Given the description of an element on the screen output the (x, y) to click on. 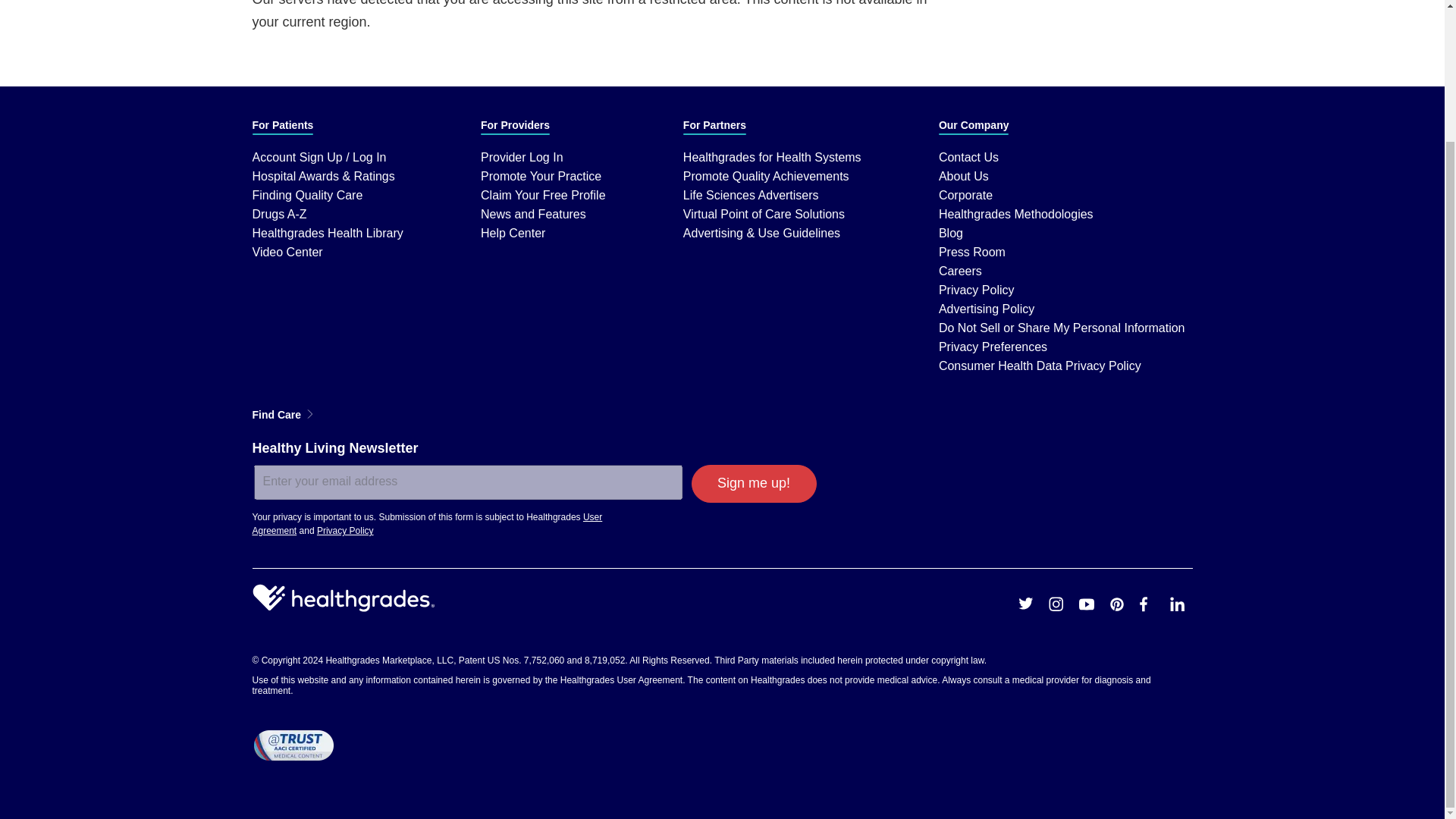
This website is certified by AACI. Click to verify. (293, 745)
